Given the description of an element on the screen output the (x, y) to click on. 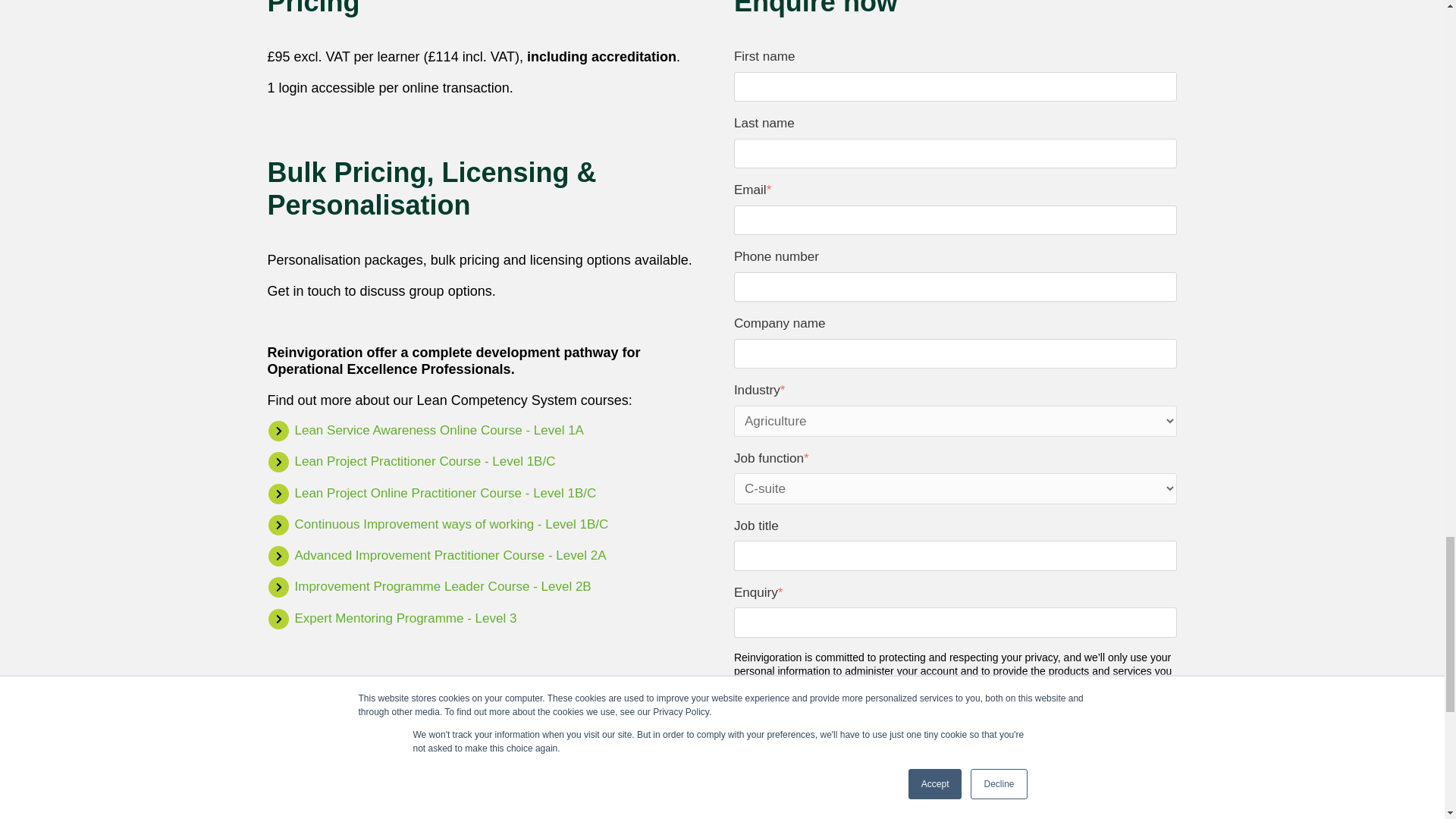
true (738, 737)
